Given the description of an element on the screen output the (x, y) to click on. 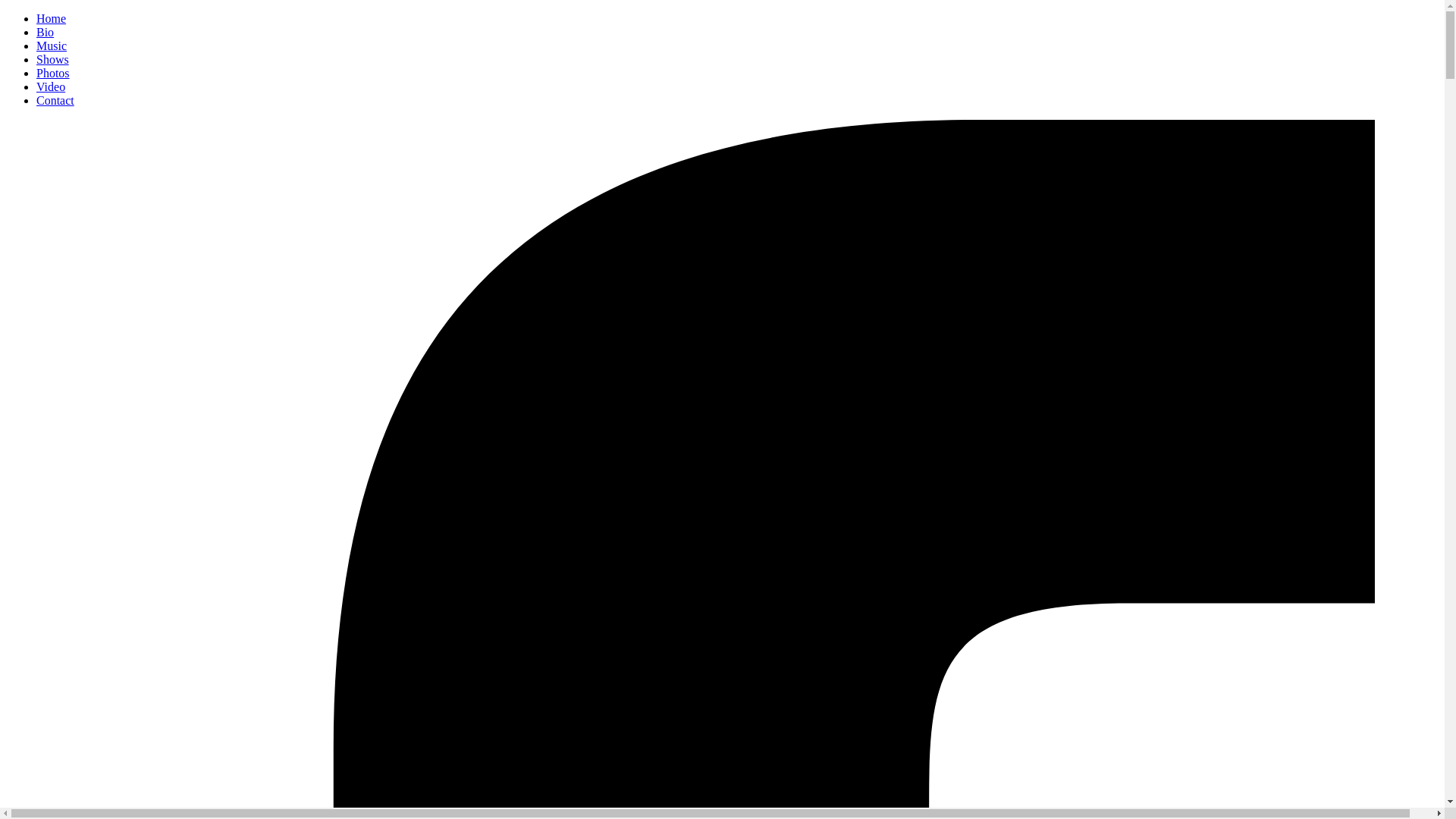
Photos Element type: text (52, 72)
Bio Element type: text (44, 31)
Shows Element type: text (52, 59)
Contact Element type: text (55, 100)
Home Element type: text (50, 18)
Music Element type: text (51, 45)
Video Element type: text (50, 86)
